Given the description of an element on the screen output the (x, y) to click on. 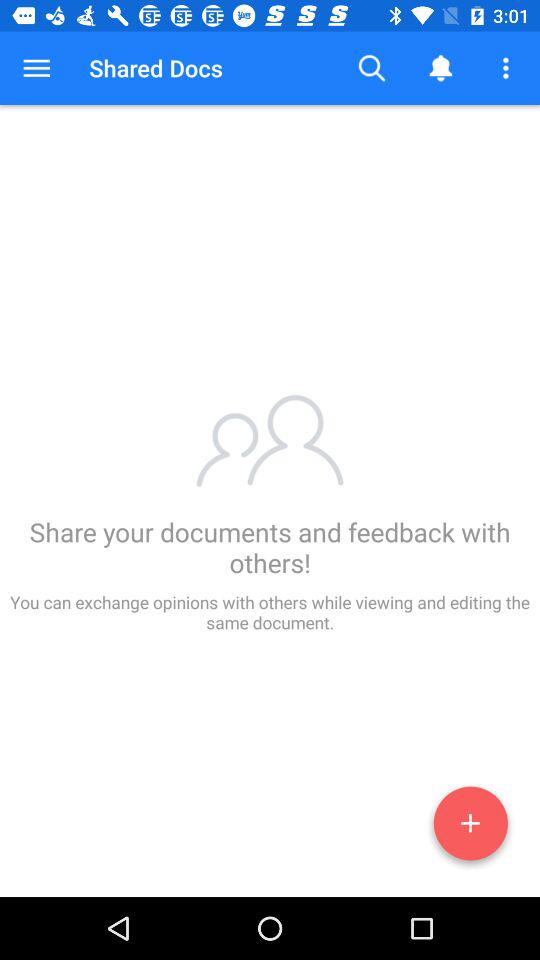
turn on item next to the shared docs (36, 68)
